Given the description of an element on the screen output the (x, y) to click on. 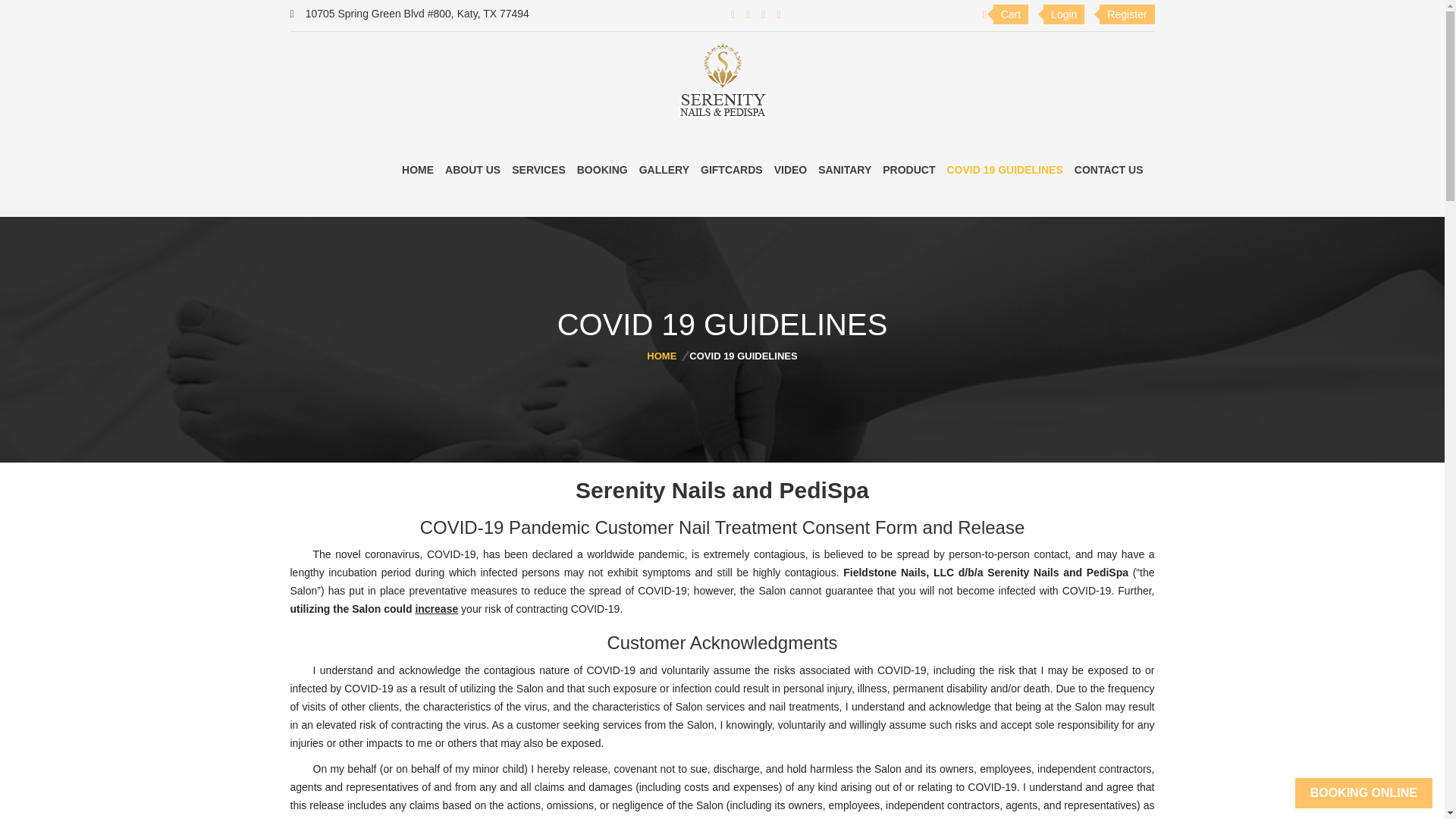
Cart (1004, 14)
cart (1004, 14)
Register (1125, 14)
covid-19-guidelines (1004, 169)
HOME (667, 355)
COVID 19 GUIDELINES (1004, 169)
Login (1061, 14)
register (1125, 14)
